Given the description of an element on the screen output the (x, y) to click on. 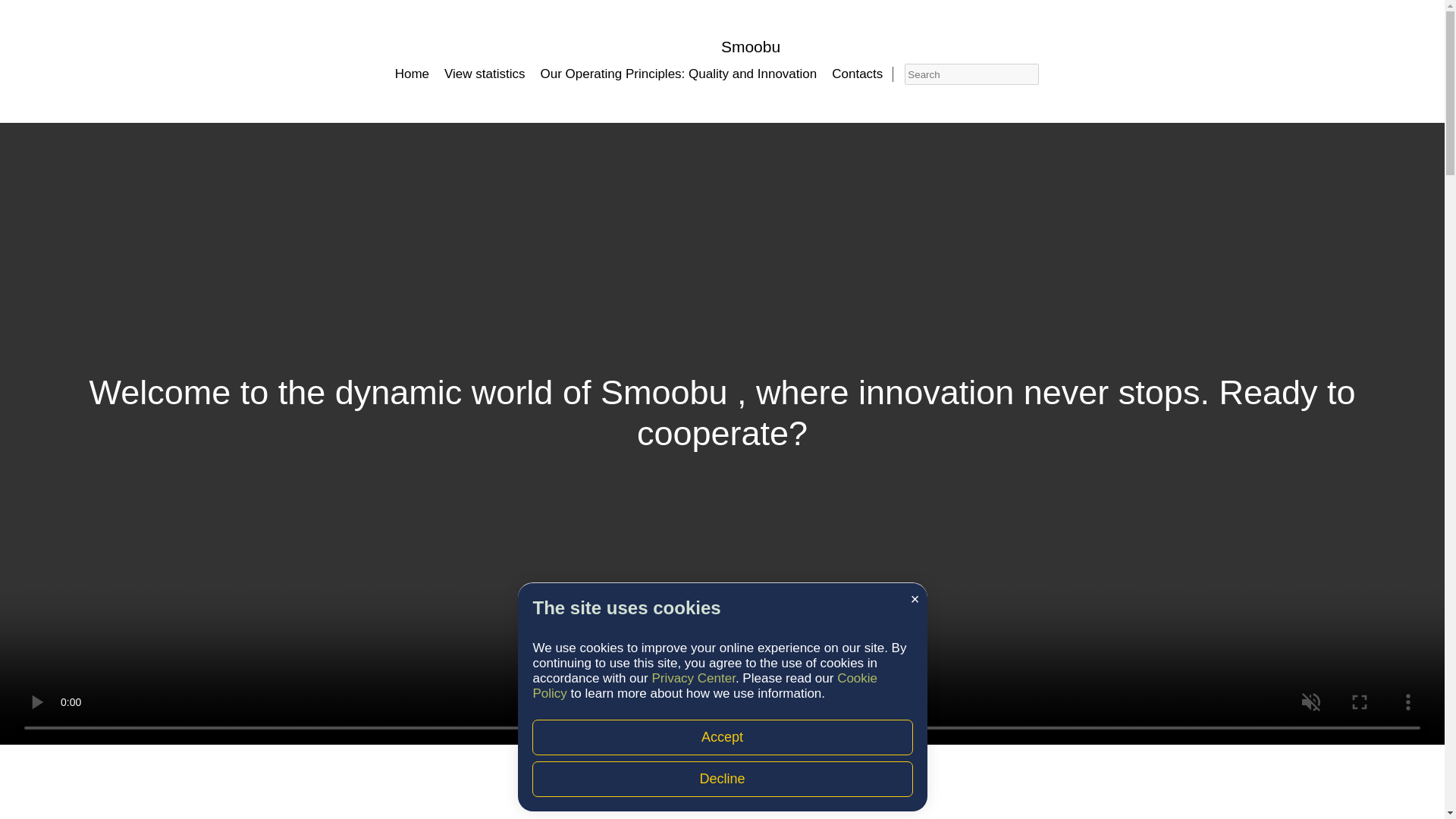
View statistics (484, 73)
Cookie Policy (704, 685)
Accept (721, 737)
Privacy Center (692, 677)
Our Operating Principles: Quality and Innovation (678, 73)
Decline (721, 779)
Home (411, 73)
Contacts (856, 73)
